Given the description of an element on the screen output the (x, y) to click on. 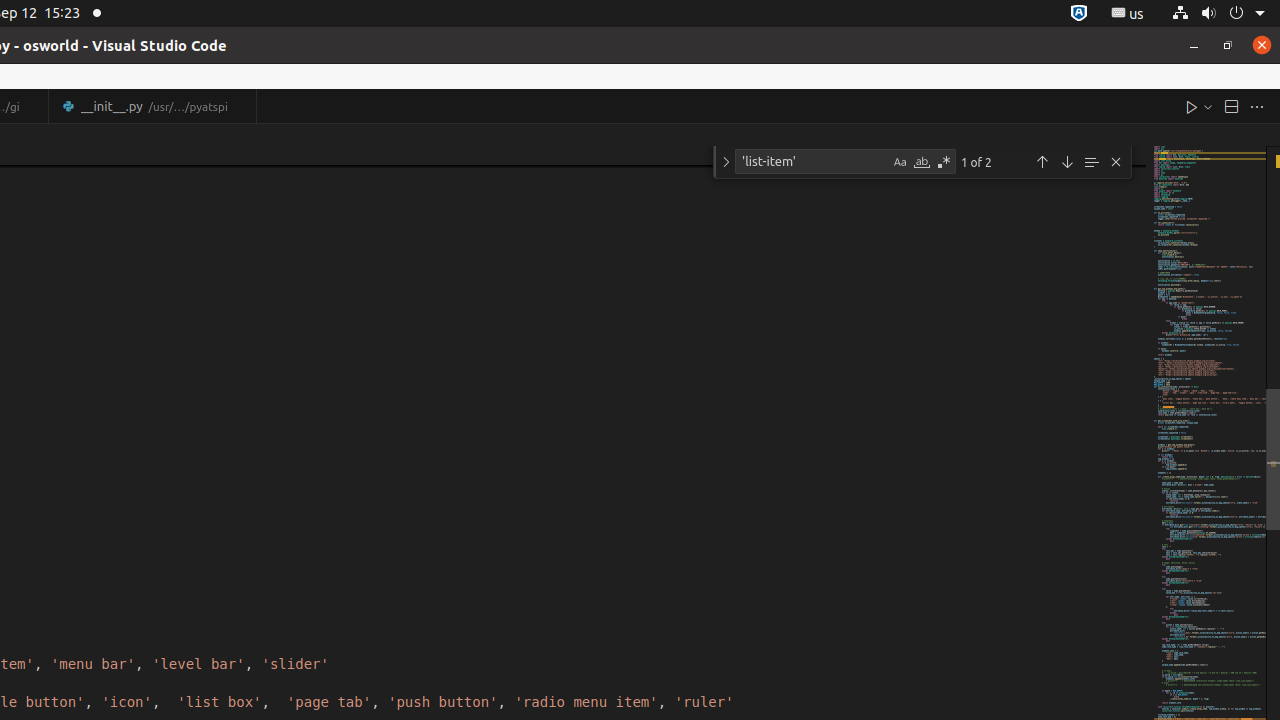
Run or Debug... Element type: push-button (1208, 106)
Run Python File Element type: push-button (1192, 106)
Close (Ctrl+W) Element type: push-button (241, 106)
Split Editor Right (Ctrl+\) [Alt] Split Editor Down Element type: push-button (1231, 106)
